Given the description of an element on the screen output the (x, y) to click on. 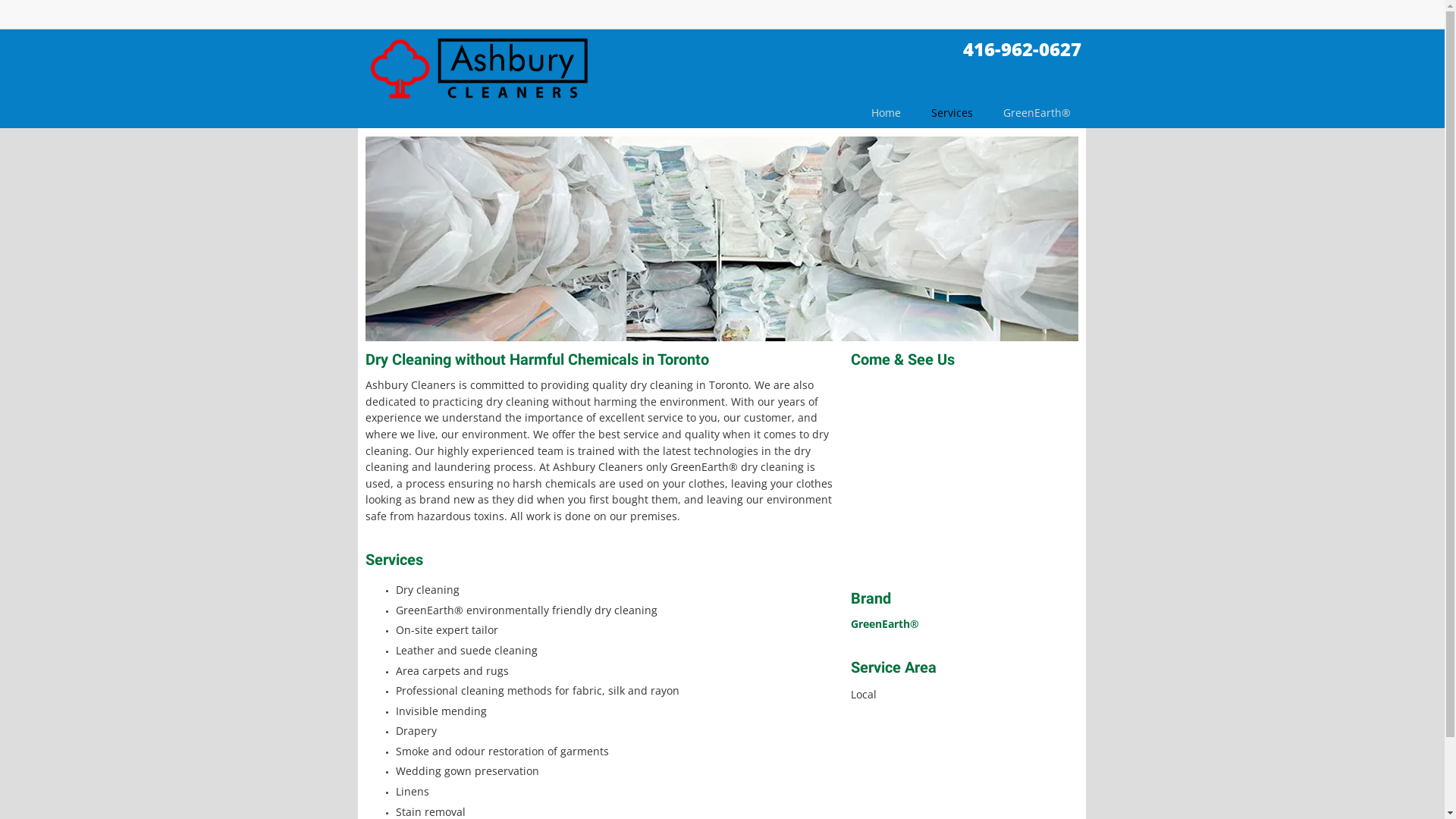
416-962-0627 Element type: text (1022, 48)
Home Element type: text (886, 116)
Services Element type: text (952, 116)
Embedded Content Element type: hover (940, 22)
Google Maps Element type: hover (964, 476)
Embedded Content Element type: hover (1064, 19)
